Given the description of an element on the screen output the (x, y) to click on. 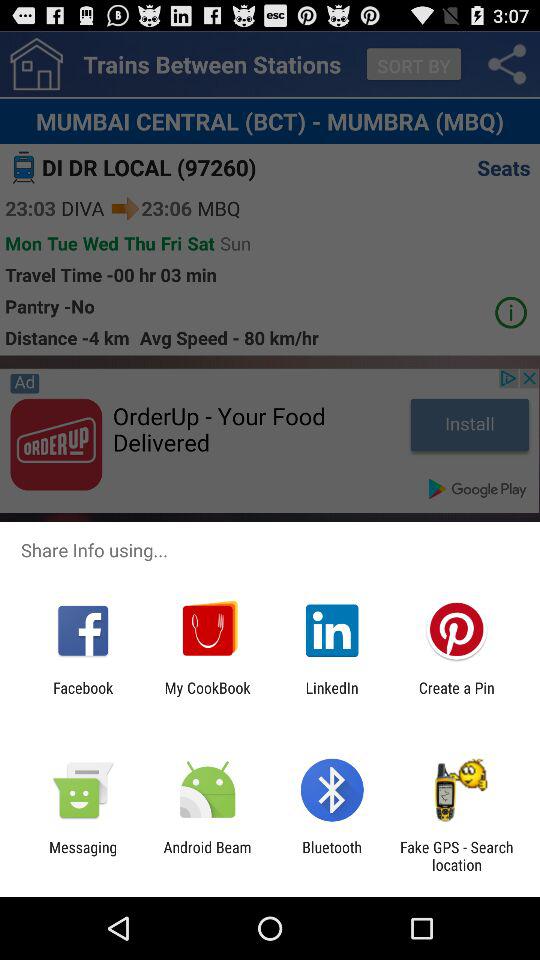
turn on the app to the right of messaging app (207, 856)
